Given the description of an element on the screen output the (x, y) to click on. 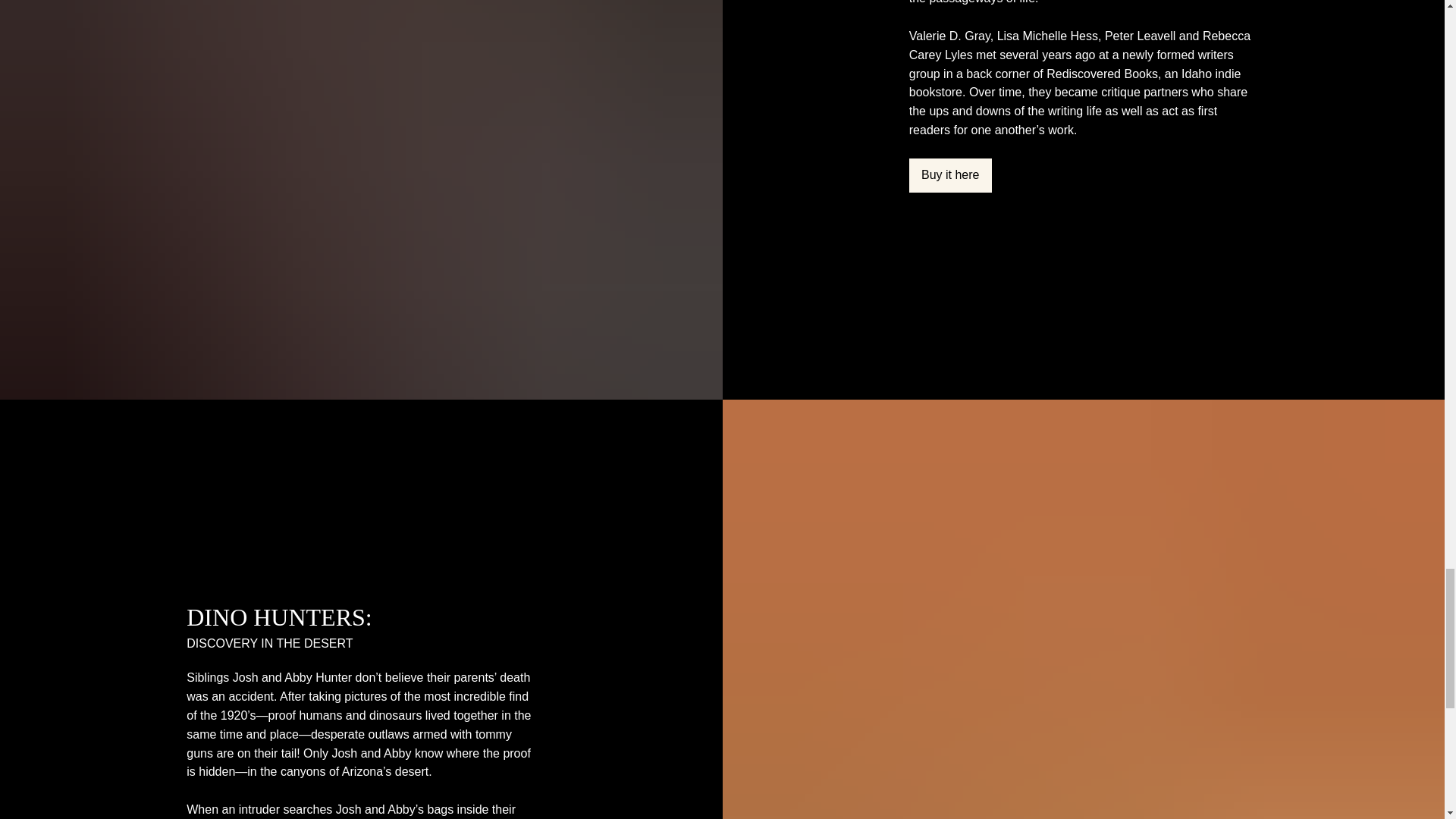
Buy it here (949, 175)
